Given the description of an element on the screen output the (x, y) to click on. 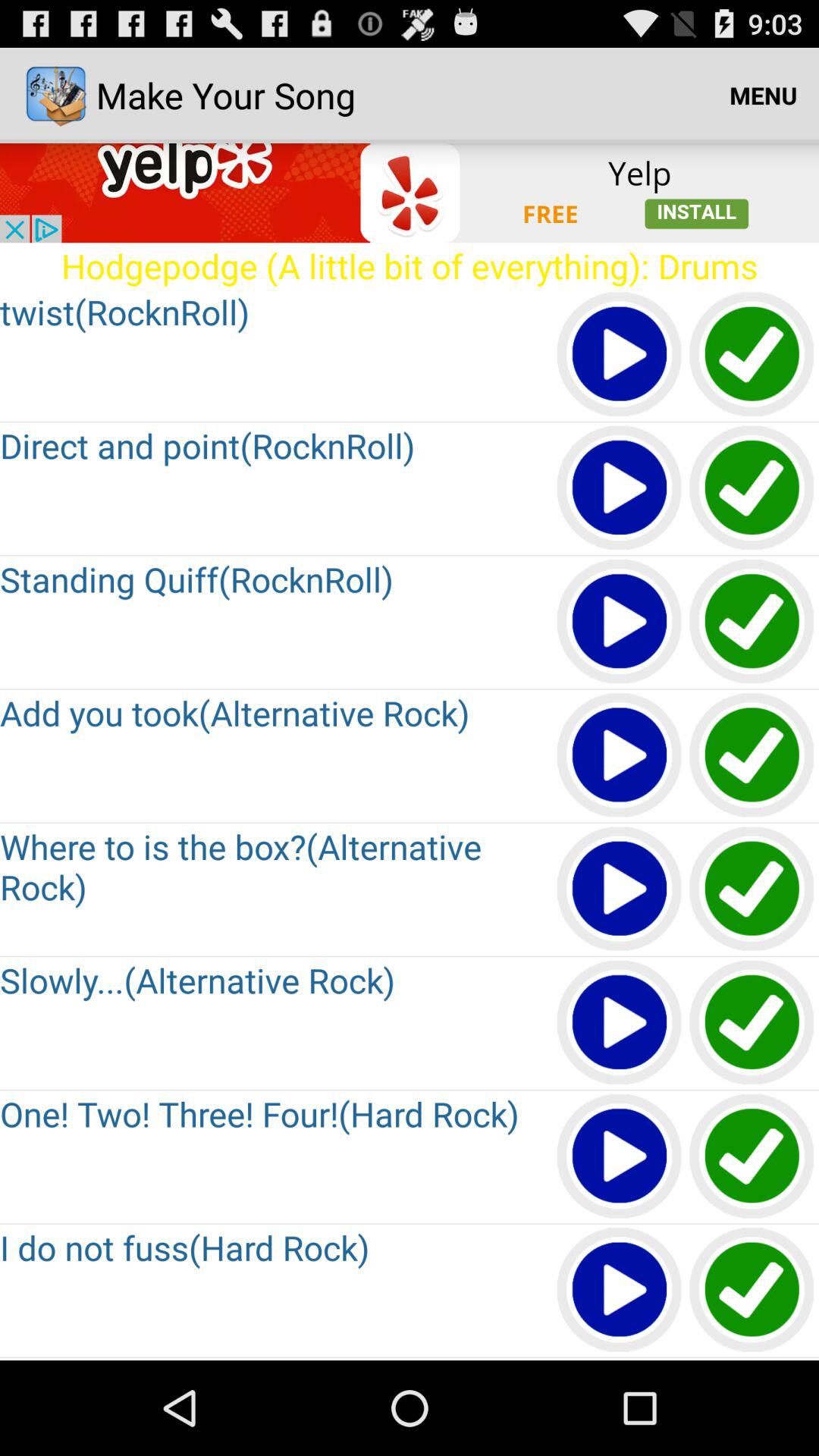
play song (619, 889)
